Given the description of an element on the screen output the (x, y) to click on. 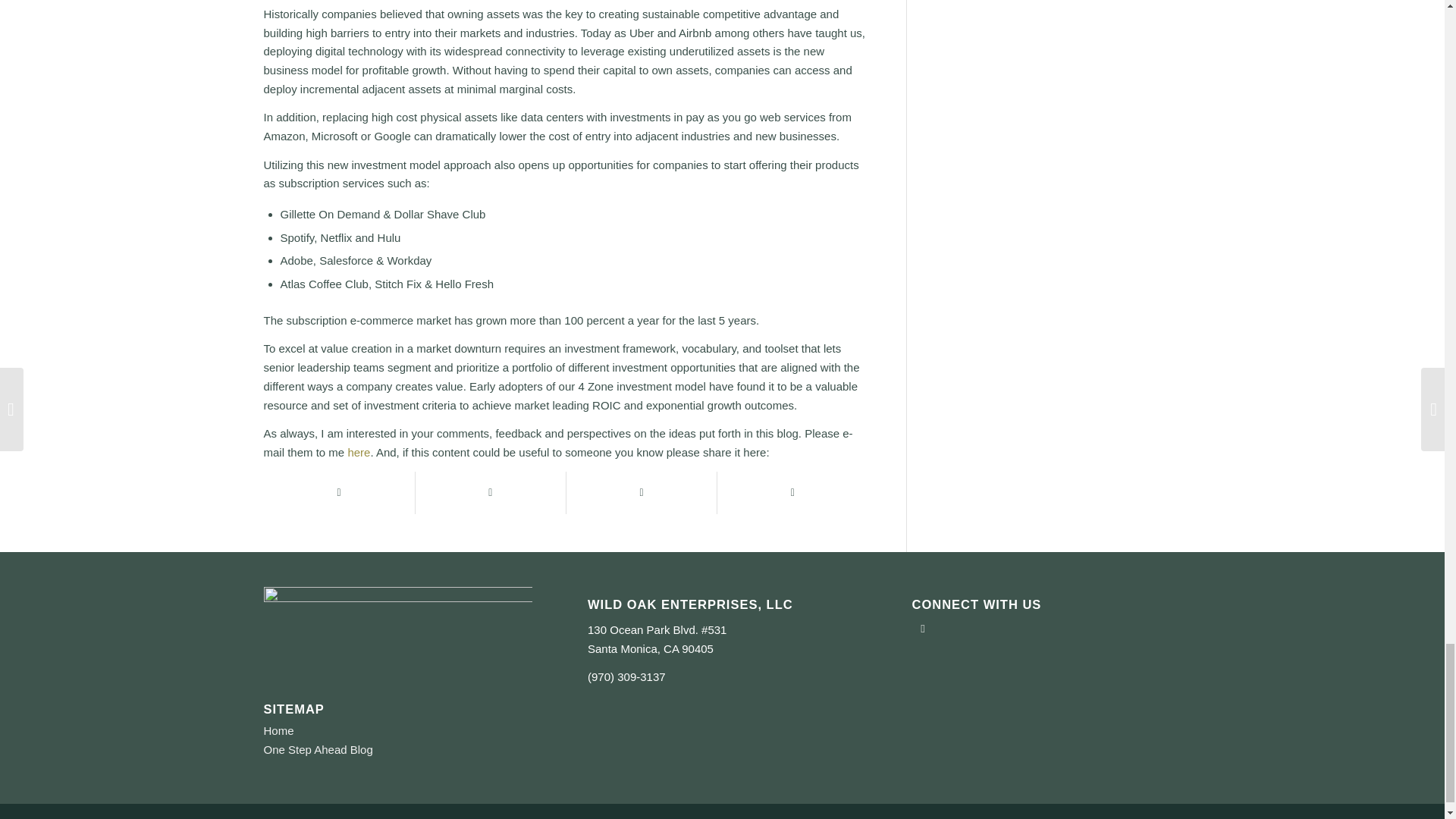
Linkedin (923, 628)
here (358, 451)
